Given the description of an element on the screen output the (x, y) to click on. 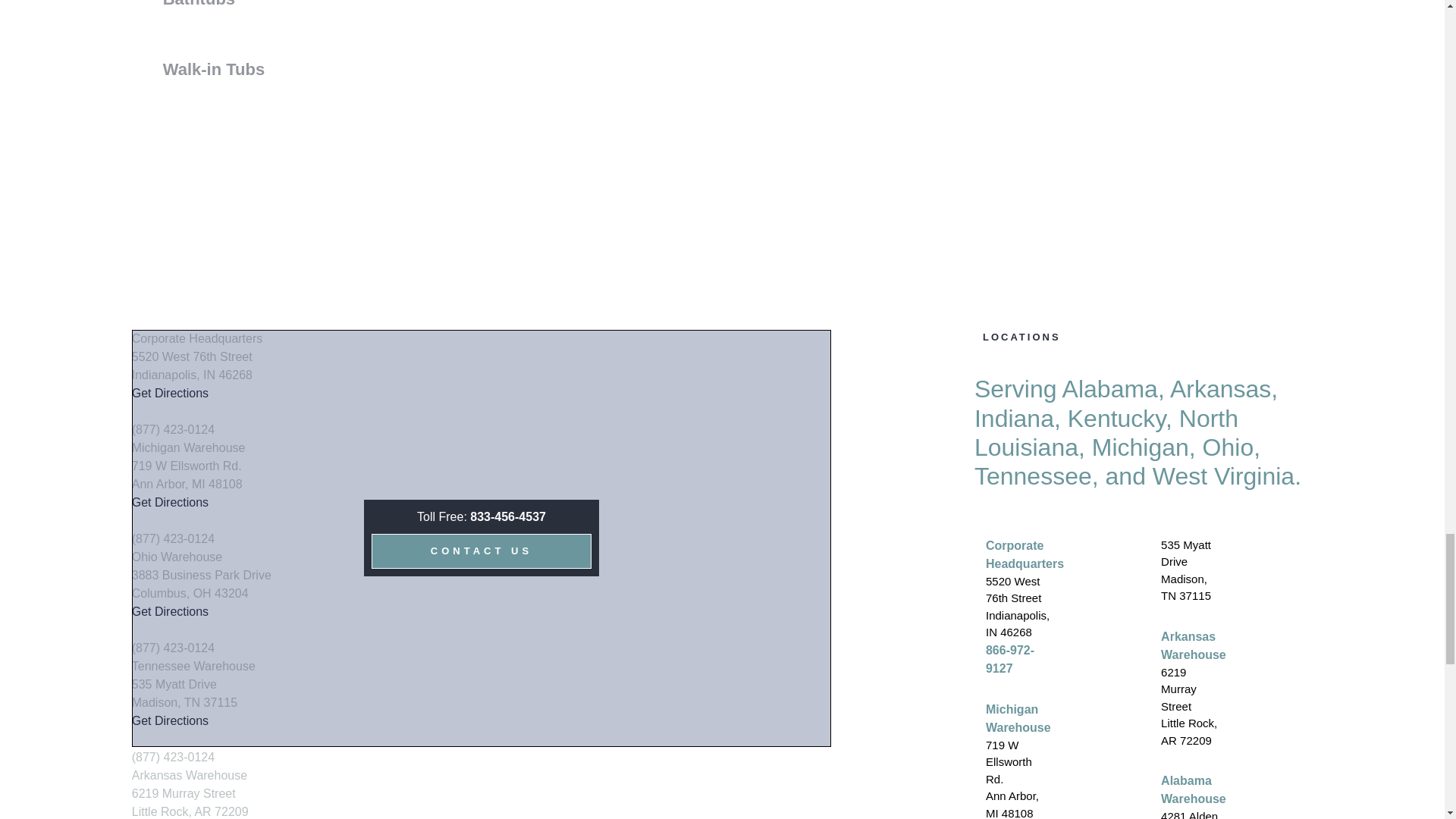
Get Directions (170, 720)
Get Directions (170, 502)
Get Directions (170, 392)
Get Directions (170, 611)
